Given the description of an element on the screen output the (x, y) to click on. 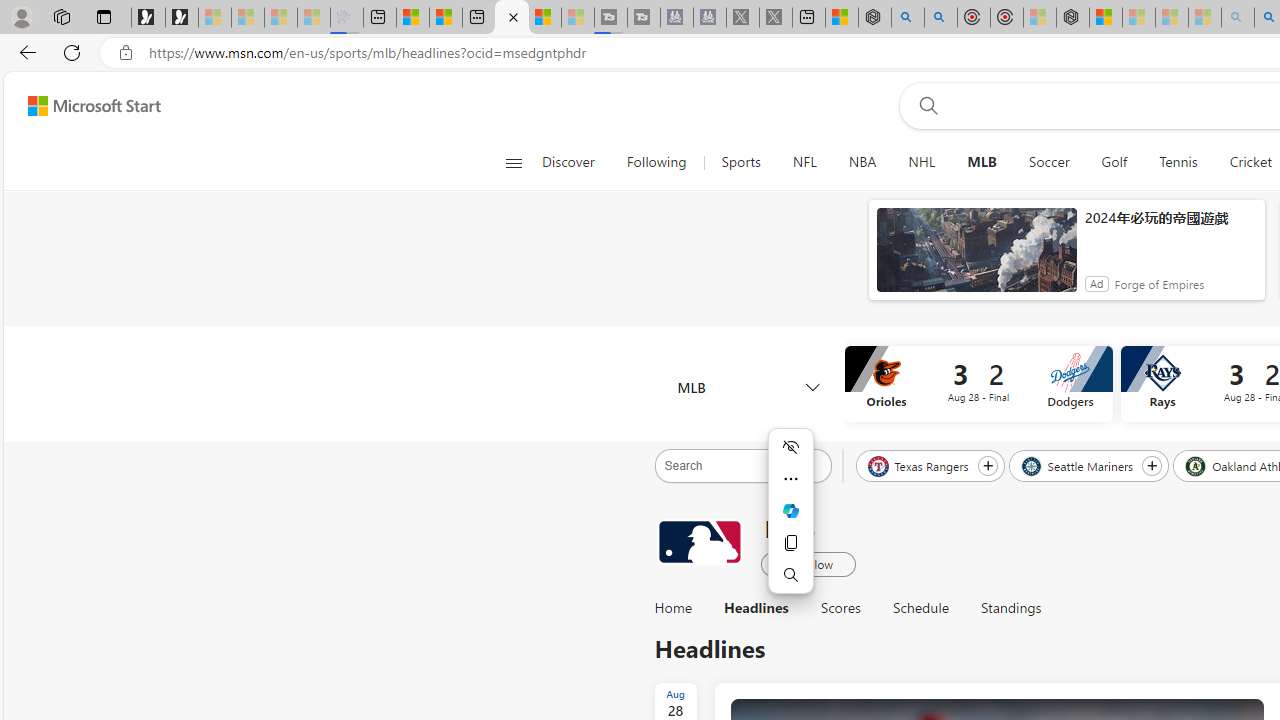
Orioles 3 vs Dodgers 2Final Date Aug 28 (978, 383)
Hide menu (790, 446)
Schedule (920, 607)
Texas Rangers (920, 465)
MLB (748, 386)
Follow MLB 2024 (808, 563)
Web search (924, 105)
